Given the description of an element on the screen output the (x, y) to click on. 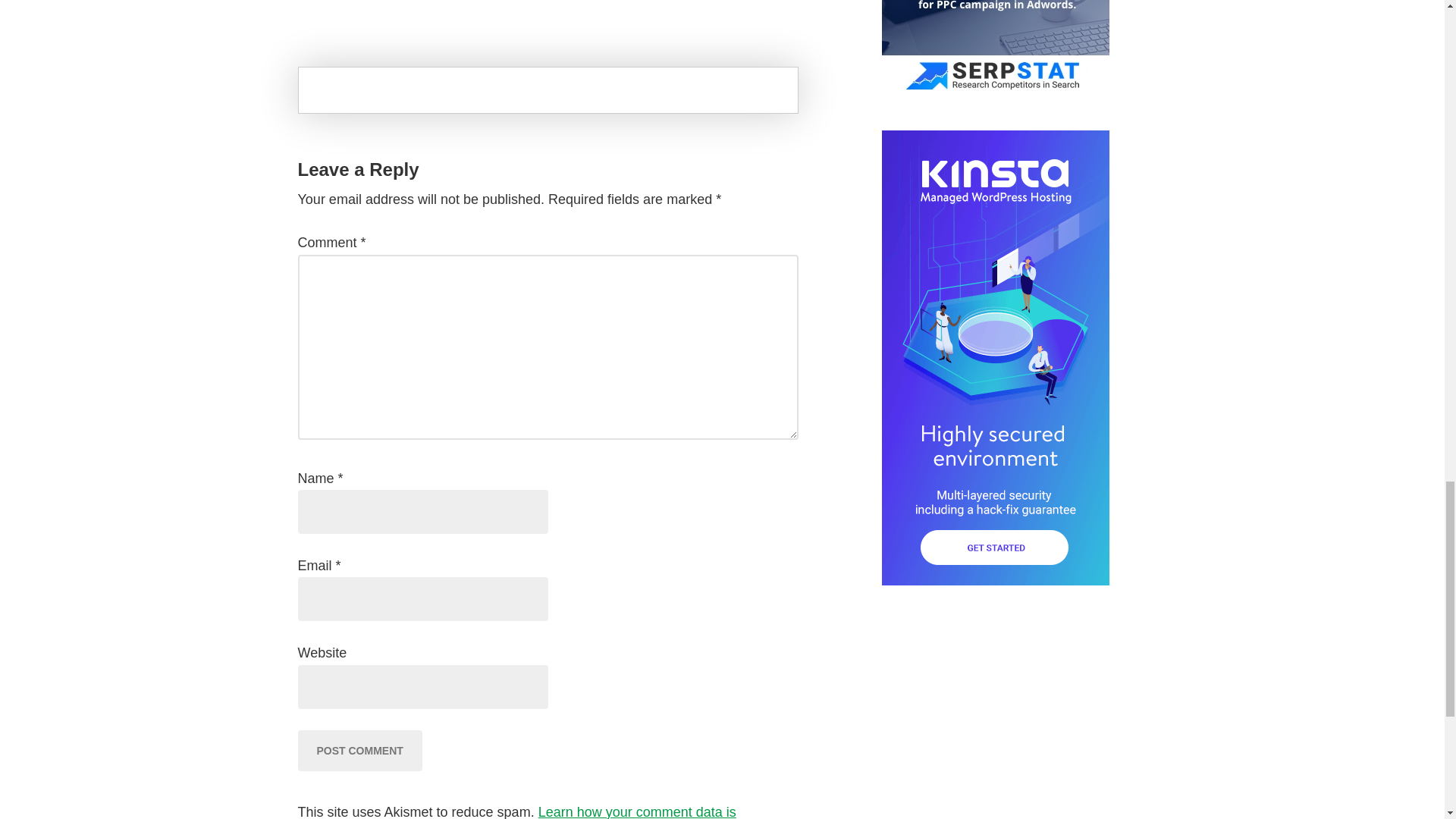
Post Comment (359, 750)
Post Comment (359, 750)
Serpstat (994, 89)
Learn how your comment data is processed (516, 811)
